Given the description of an element on the screen output the (x, y) to click on. 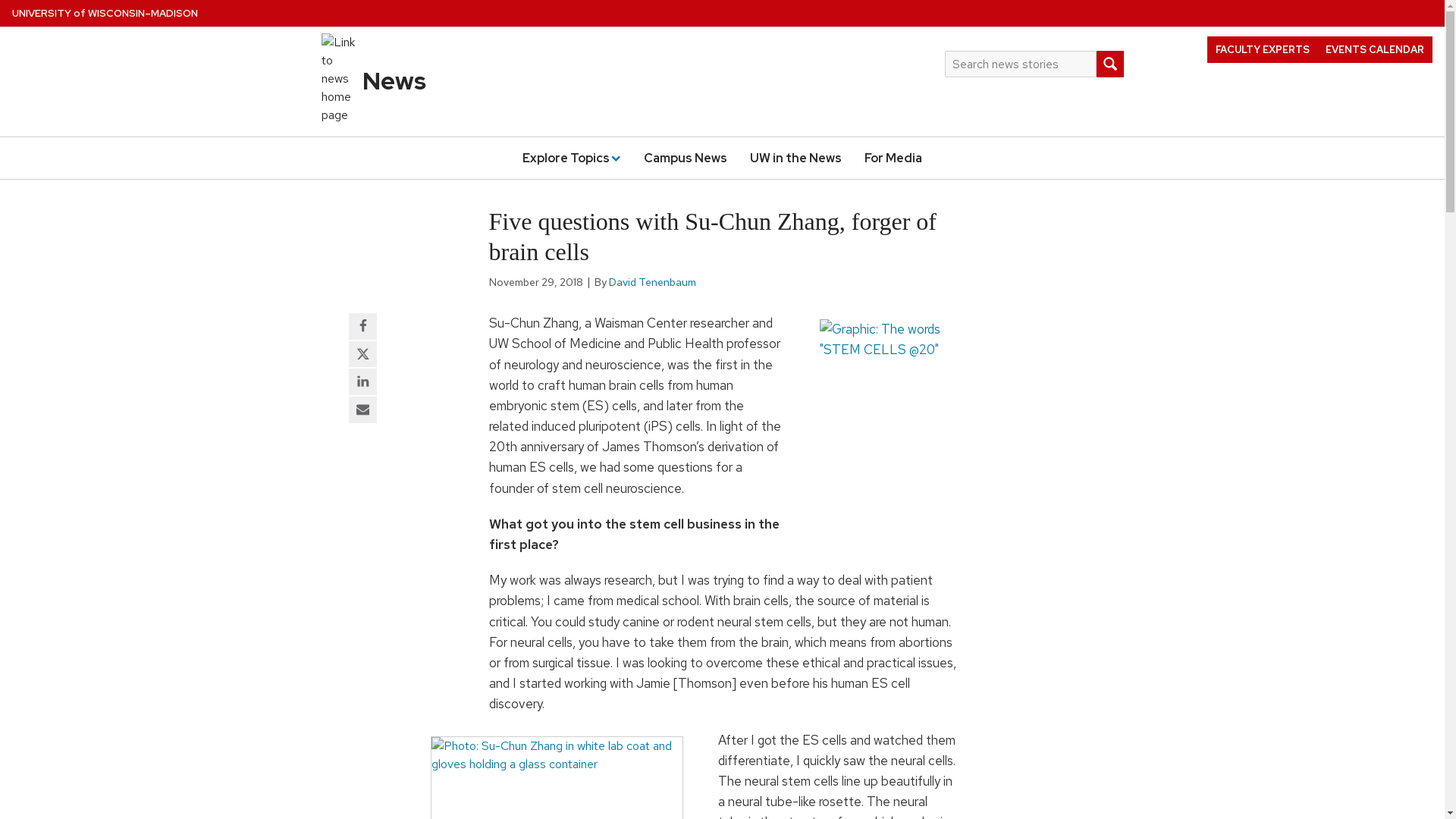
Expand (615, 157)
UW in the News (795, 157)
Skip to main content (3, 3)
Explore TopicsExpand (571, 157)
News (394, 80)
EVENTS CALENDAR (1374, 49)
For Media (892, 157)
Submit search (1109, 63)
FACULTY EXPERTS (1262, 49)
Campus News (684, 157)
